Given the description of an element on the screen output the (x, y) to click on. 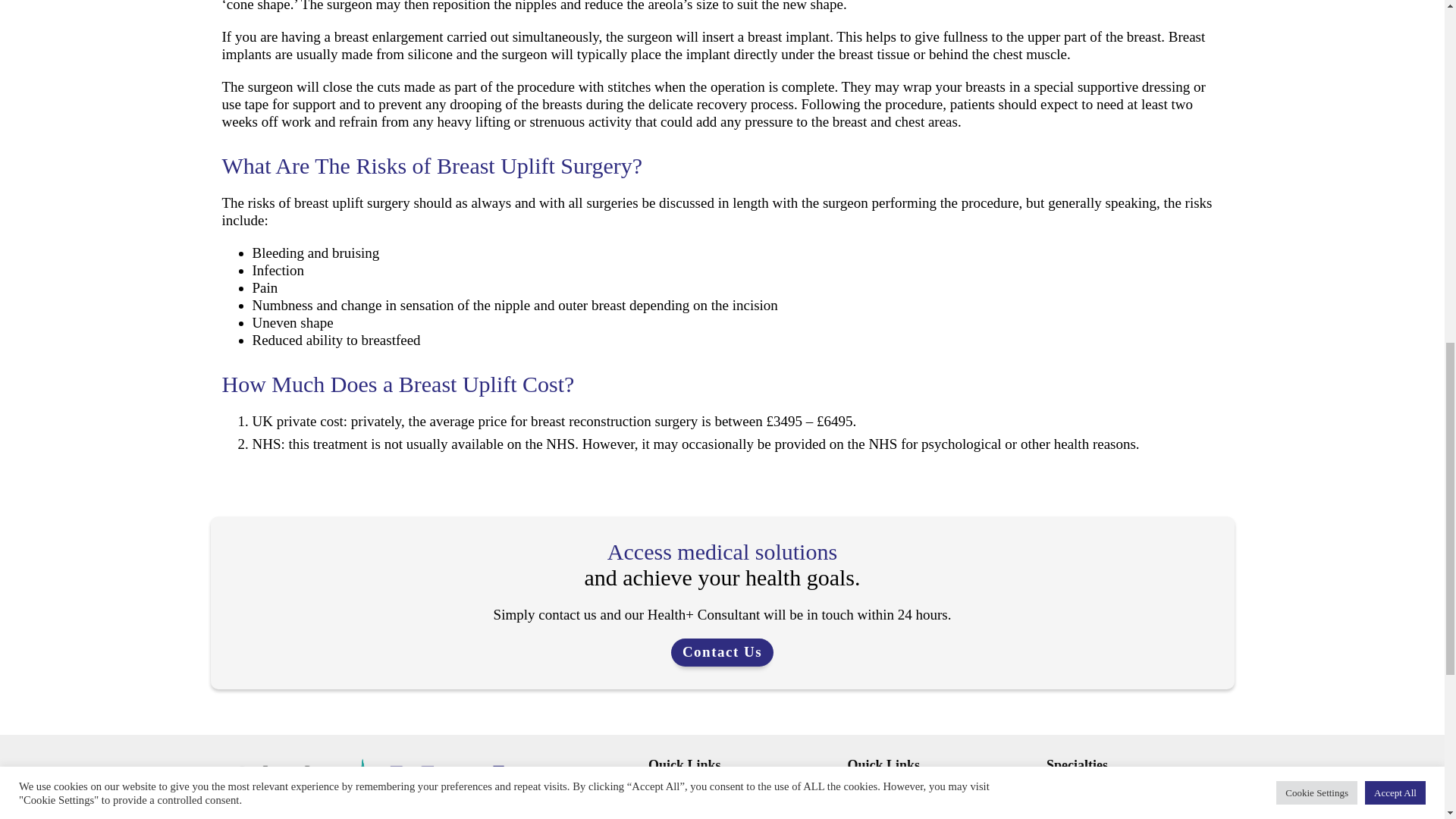
Contact Us (722, 652)
Contact (866, 809)
FAQ's (862, 789)
Specialties (673, 809)
Bariatrics (1069, 789)
Cosmetic (1069, 809)
About GlobMed (687, 789)
Specialties (1077, 764)
